Given the description of an element on the screen output the (x, y) to click on. 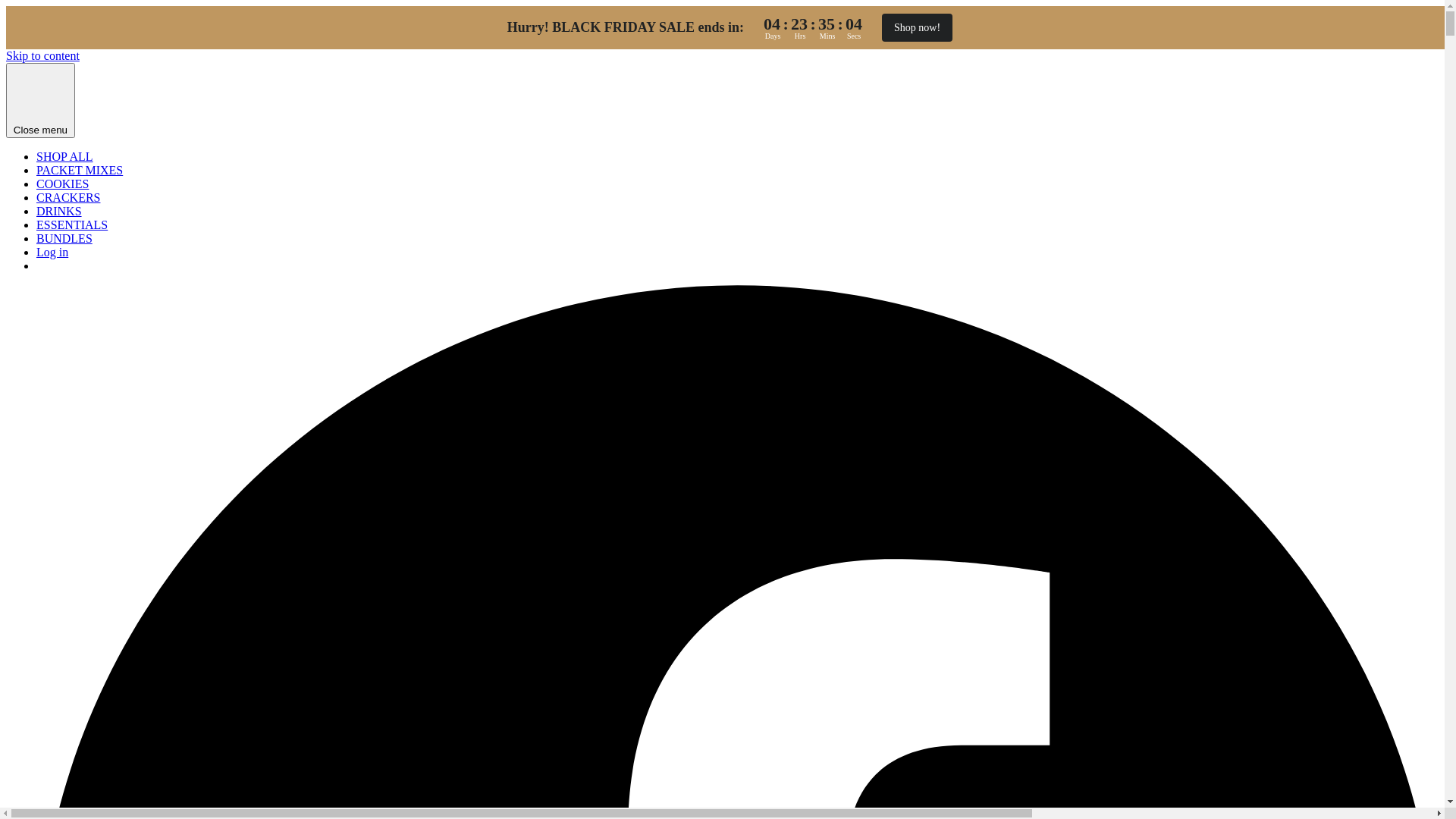
BUNDLES Element type: text (64, 238)
CRACKERS Element type: text (68, 197)
Skip to content Element type: text (42, 55)
DRINKS Element type: text (58, 210)
ESSENTIALS Element type: text (71, 224)
Log in Element type: text (52, 251)
COOKIES Element type: text (62, 183)
SHOP ALL Element type: text (64, 156)
PACKET MIXES Element type: text (79, 169)
Shop now! Element type: text (916, 27)
Close menu Element type: text (40, 100)
